Given the description of an element on the screen output the (x, y) to click on. 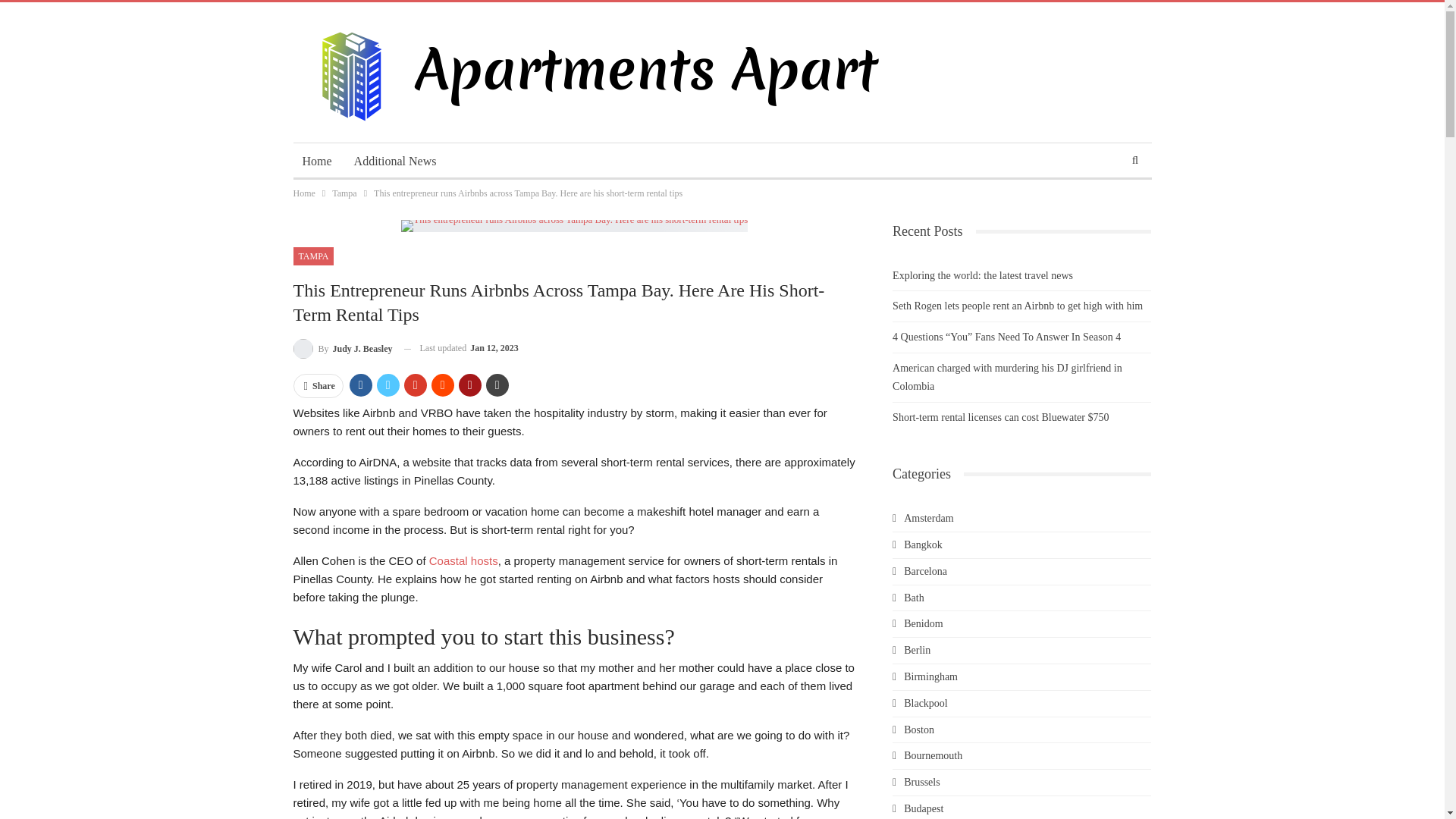
TAMPA (312, 256)
Home (316, 161)
Additional News (395, 161)
Tampa (343, 193)
Coastal hosts (463, 560)
Home (303, 193)
By Judy J. Beasley (341, 348)
Browse Author Articles (341, 348)
